Given the description of an element on the screen output the (x, y) to click on. 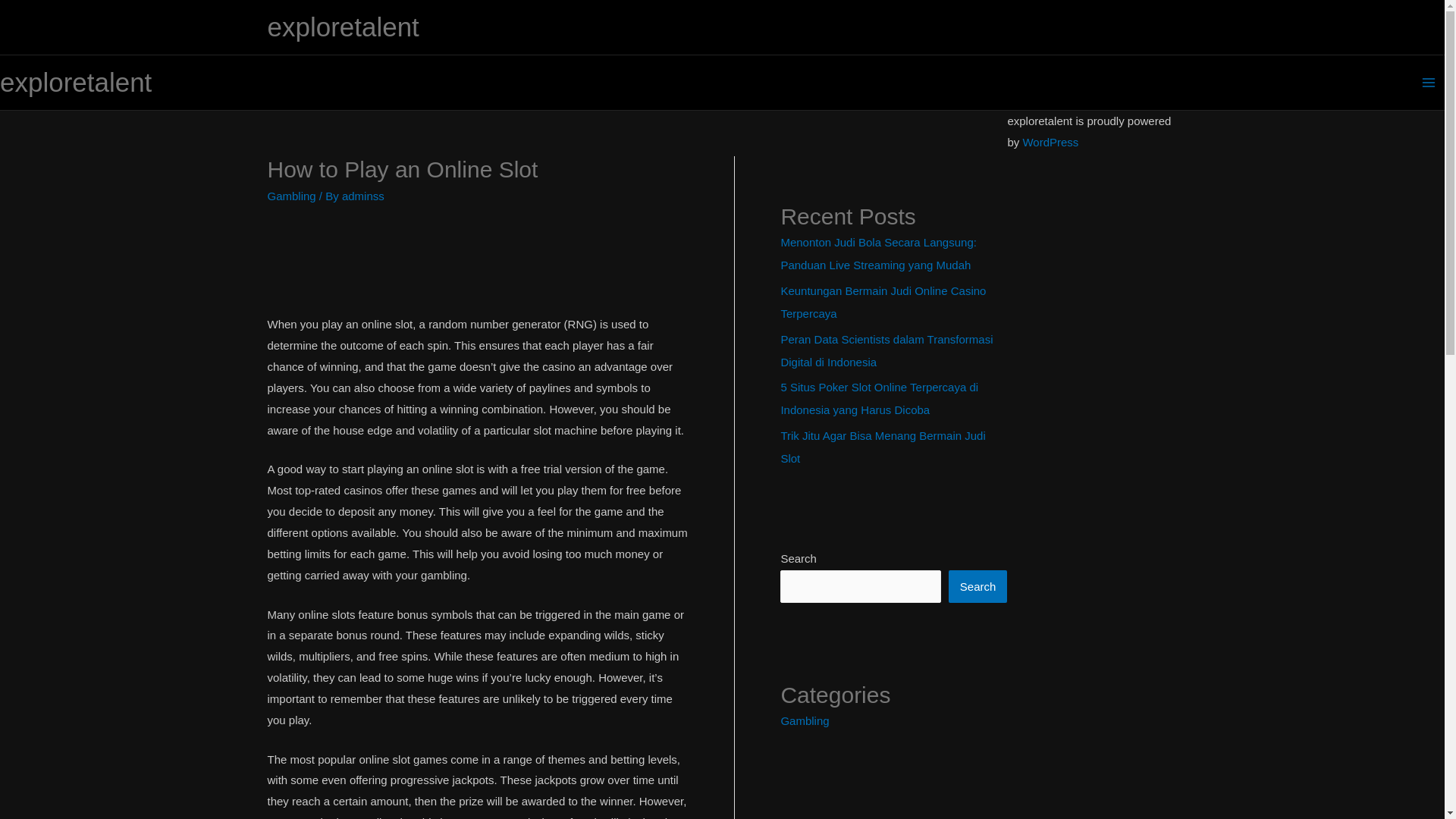
exploretalent (342, 26)
Search (978, 586)
Keuntungan Bermain Judi Online Casino Terpercaya (882, 302)
Gambling (290, 195)
adminss (363, 195)
exploretalent (75, 82)
Gambling (804, 720)
Trik Jitu Agar Bisa Menang Bermain Judi Slot (882, 447)
View all posts by adminss (363, 195)
